Given the description of an element on the screen output the (x, y) to click on. 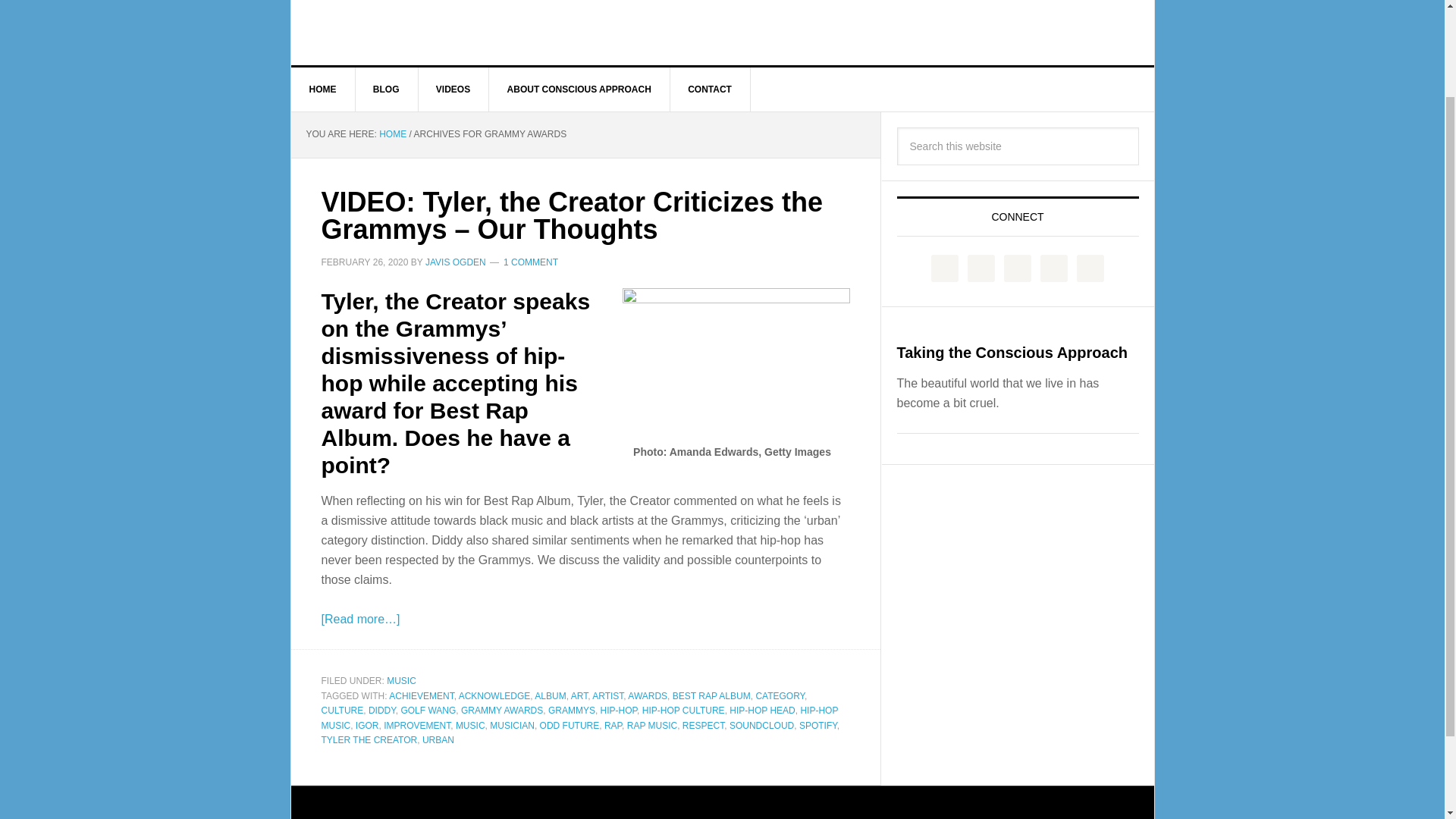
1 COMMENT (530, 262)
GOLF WANG (427, 710)
HOME (392, 133)
DIDDY (382, 710)
HIP-HOP HEAD (761, 710)
ARTIST (607, 696)
CATEGORY (780, 696)
VIDEOS (453, 89)
RAP MUSIC (652, 724)
